Given the description of an element on the screen output the (x, y) to click on. 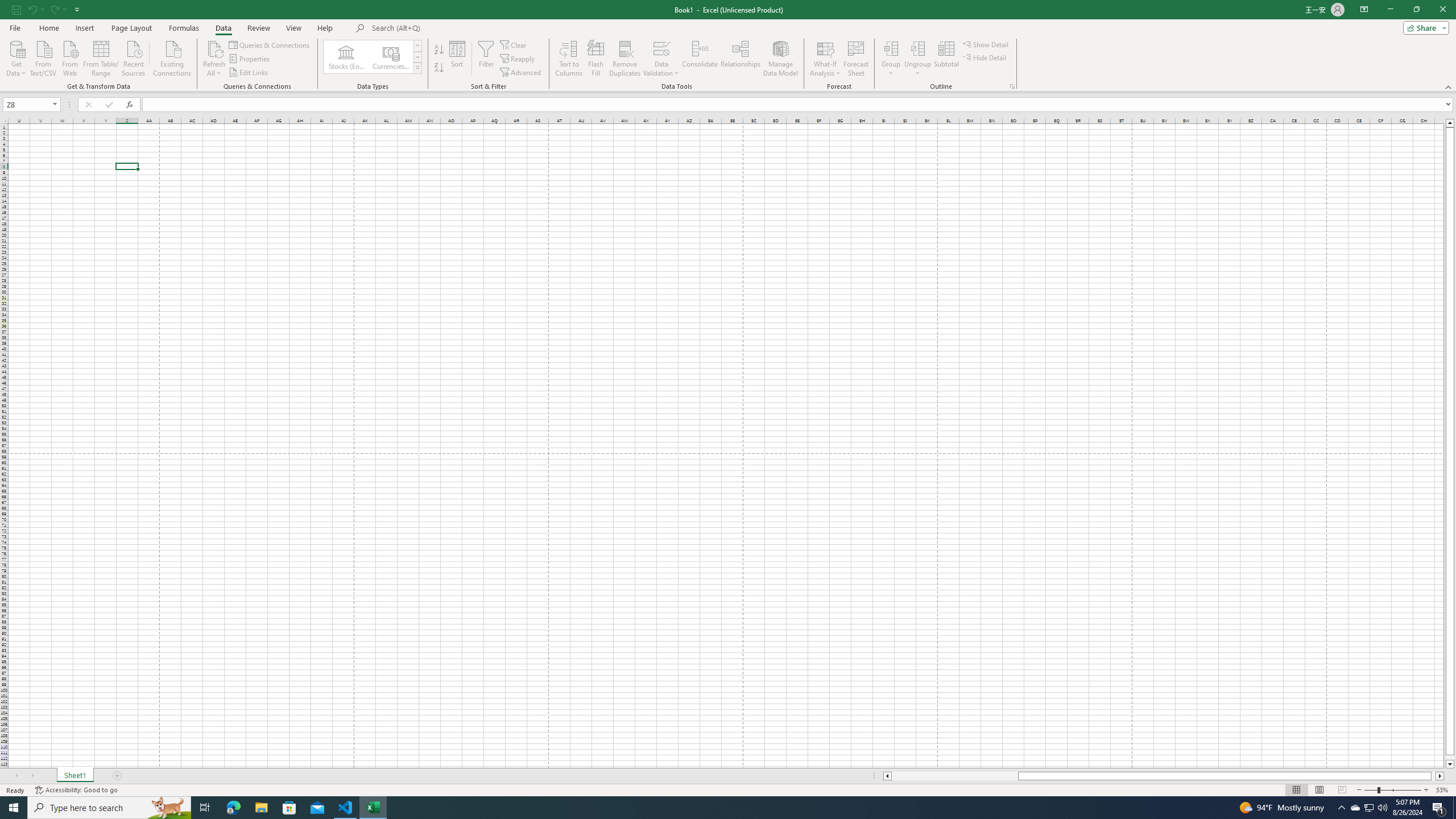
Formulas (184, 28)
Class: NetUIImage (418, 68)
Get Data (16, 57)
Quick Access Toolbar (46, 9)
Sort... (456, 58)
